Given the description of an element on the screen output the (x, y) to click on. 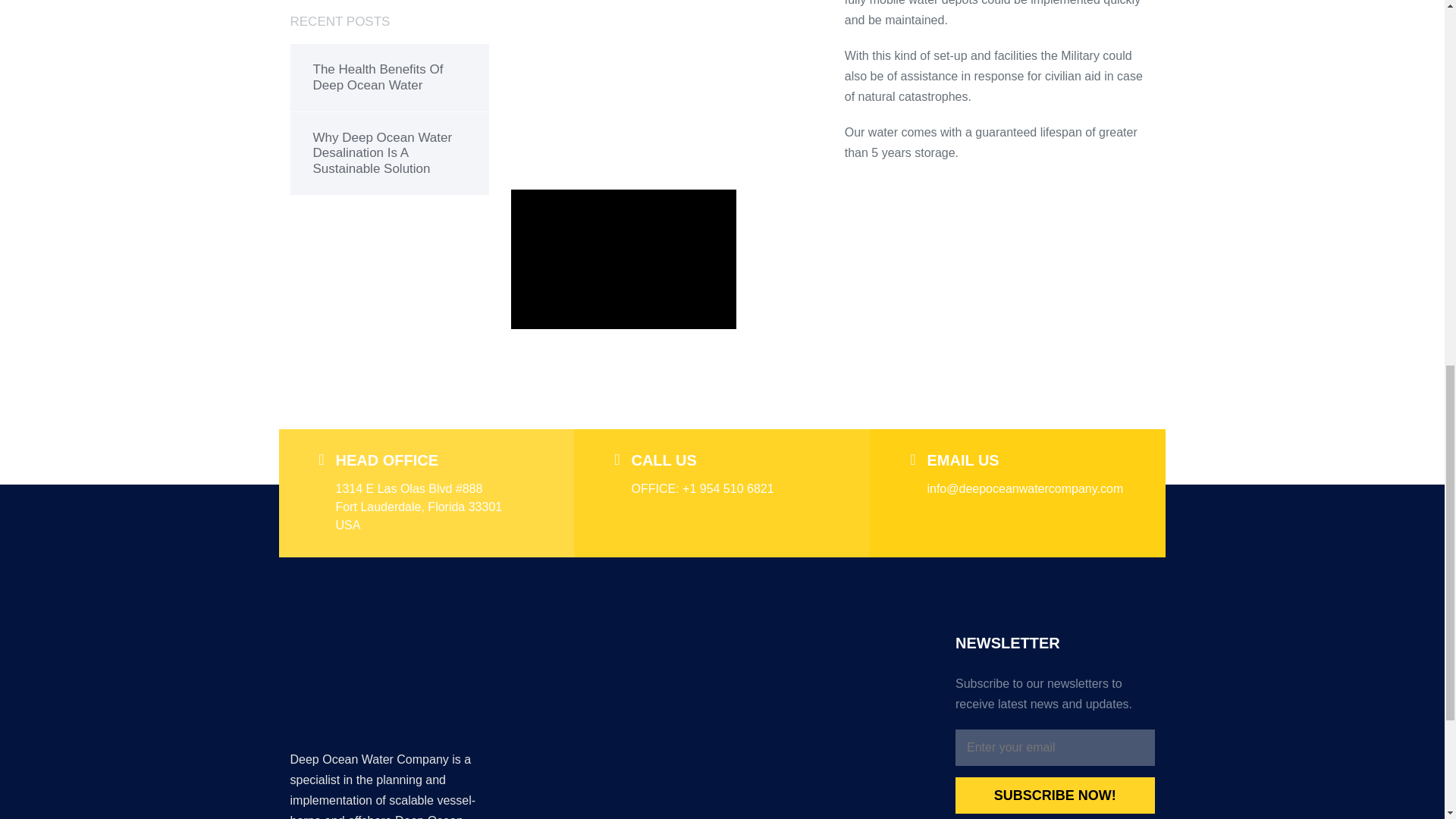
SUBSCRIBE NOW! (1054, 795)
Why Deep Ocean Water Desalination Is A Sustainable Solution (389, 153)
The Health Benefits Of Deep Ocean Water (389, 78)
